Given the description of an element on the screen output the (x, y) to click on. 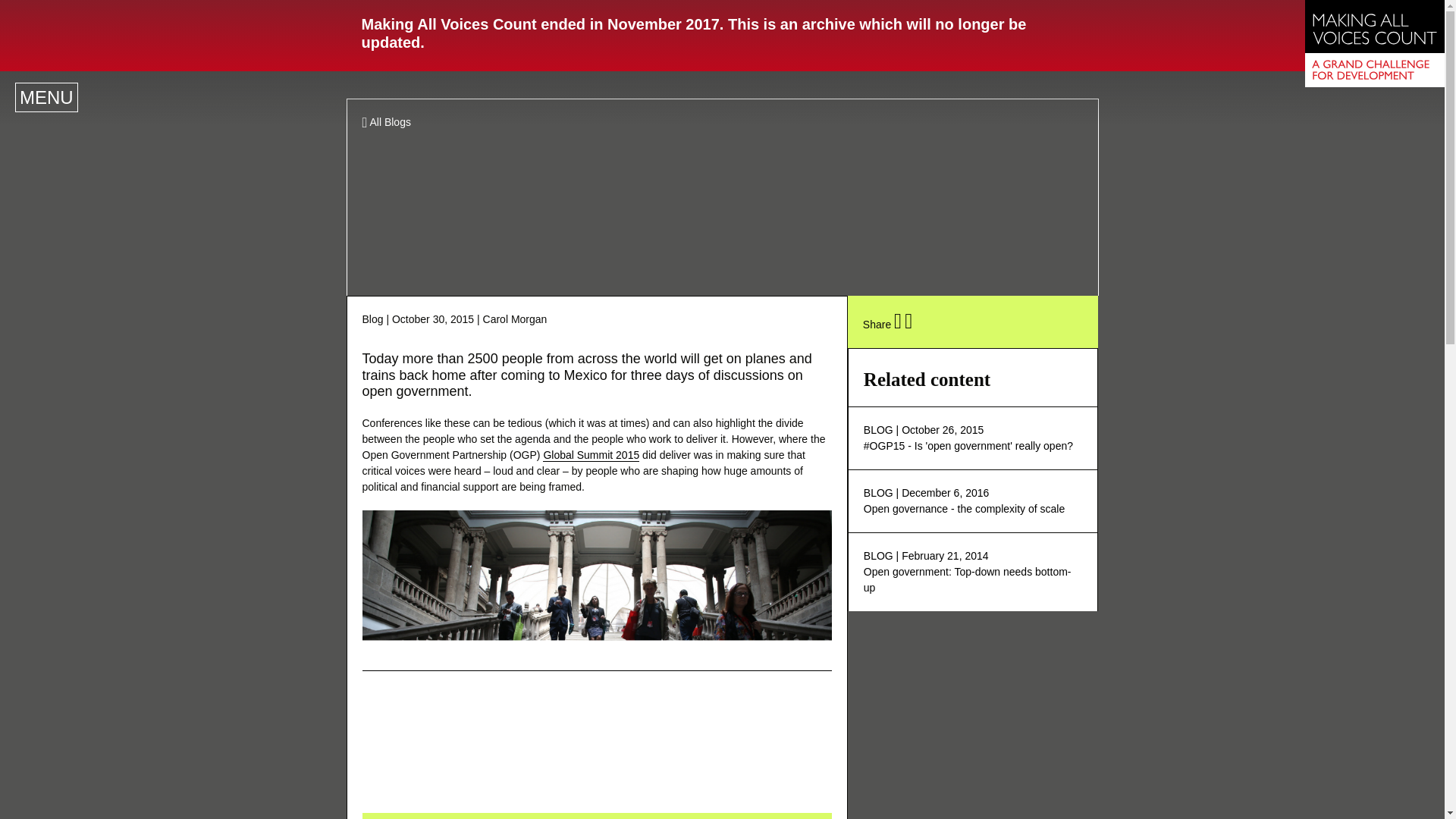
All Blogs (46, 97)
Global Summit 2015 (386, 122)
